Given the description of an element on the screen output the (x, y) to click on. 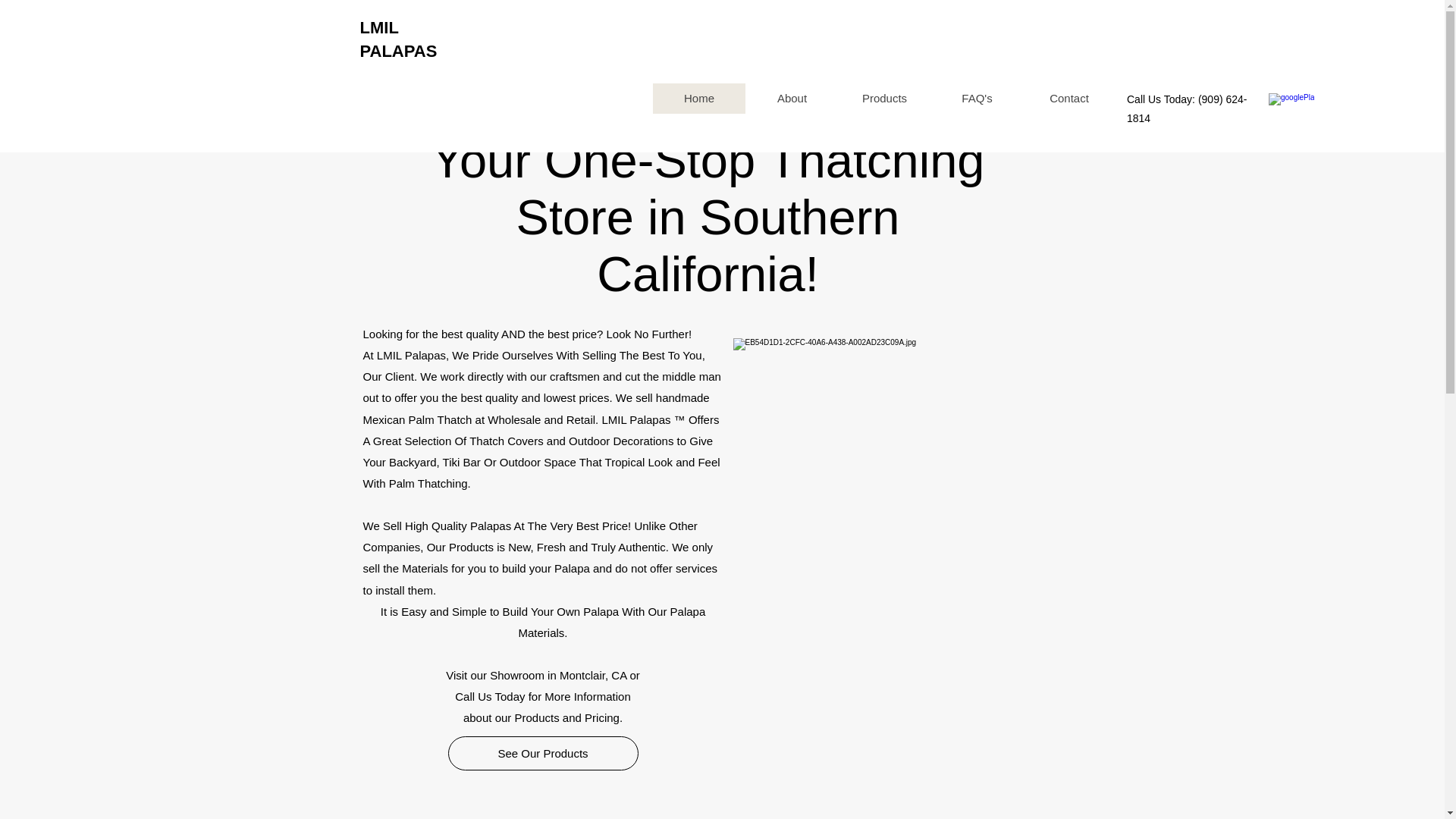
LMIL PALAPAS (397, 39)
Home (698, 98)
FAQ's (976, 98)
Products (884, 98)
Contact (1069, 98)
See Our Products (541, 753)
About (791, 98)
